Given the description of an element on the screen output the (x, y) to click on. 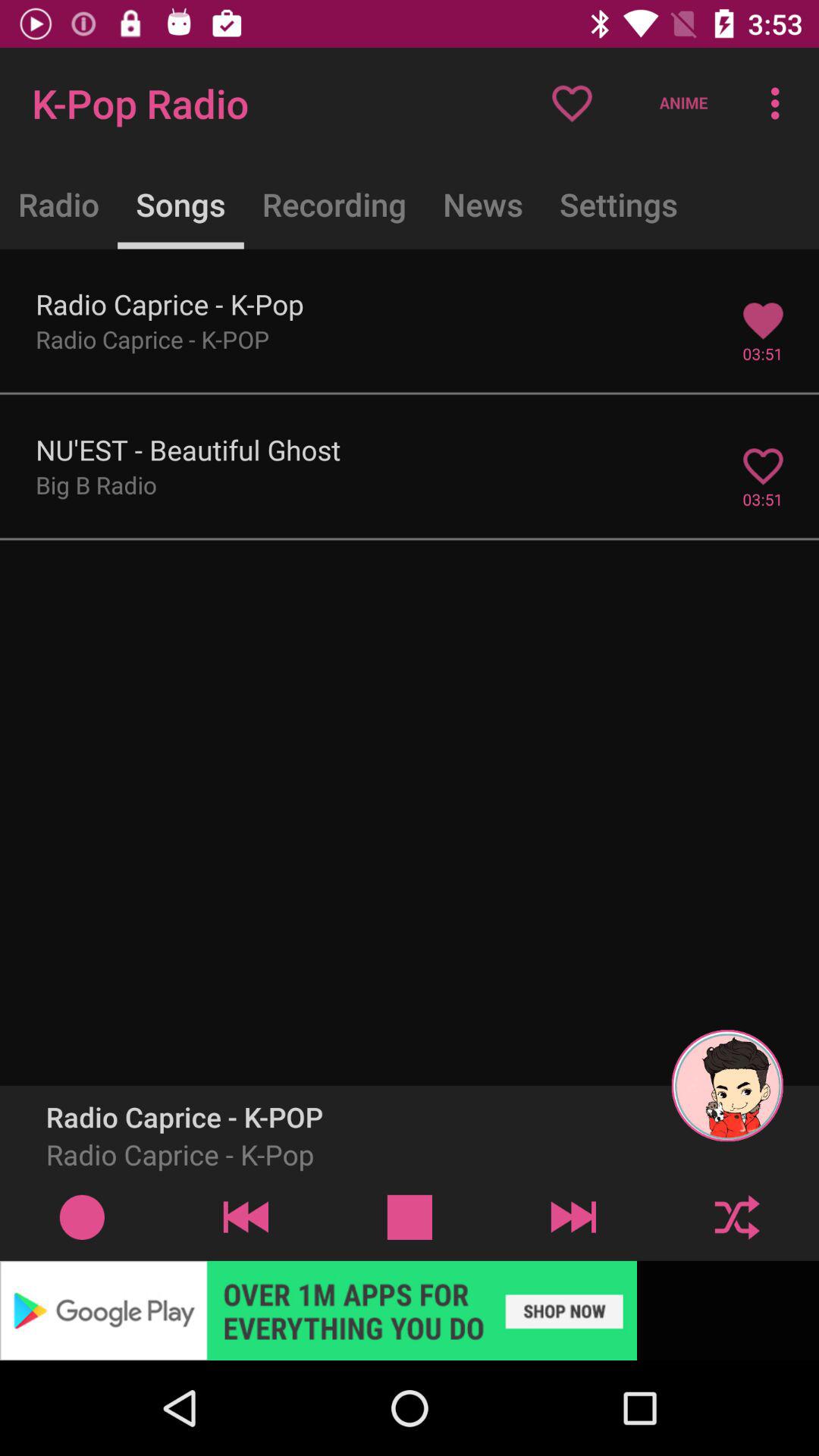
go back (245, 1216)
